Given the description of an element on the screen output the (x, y) to click on. 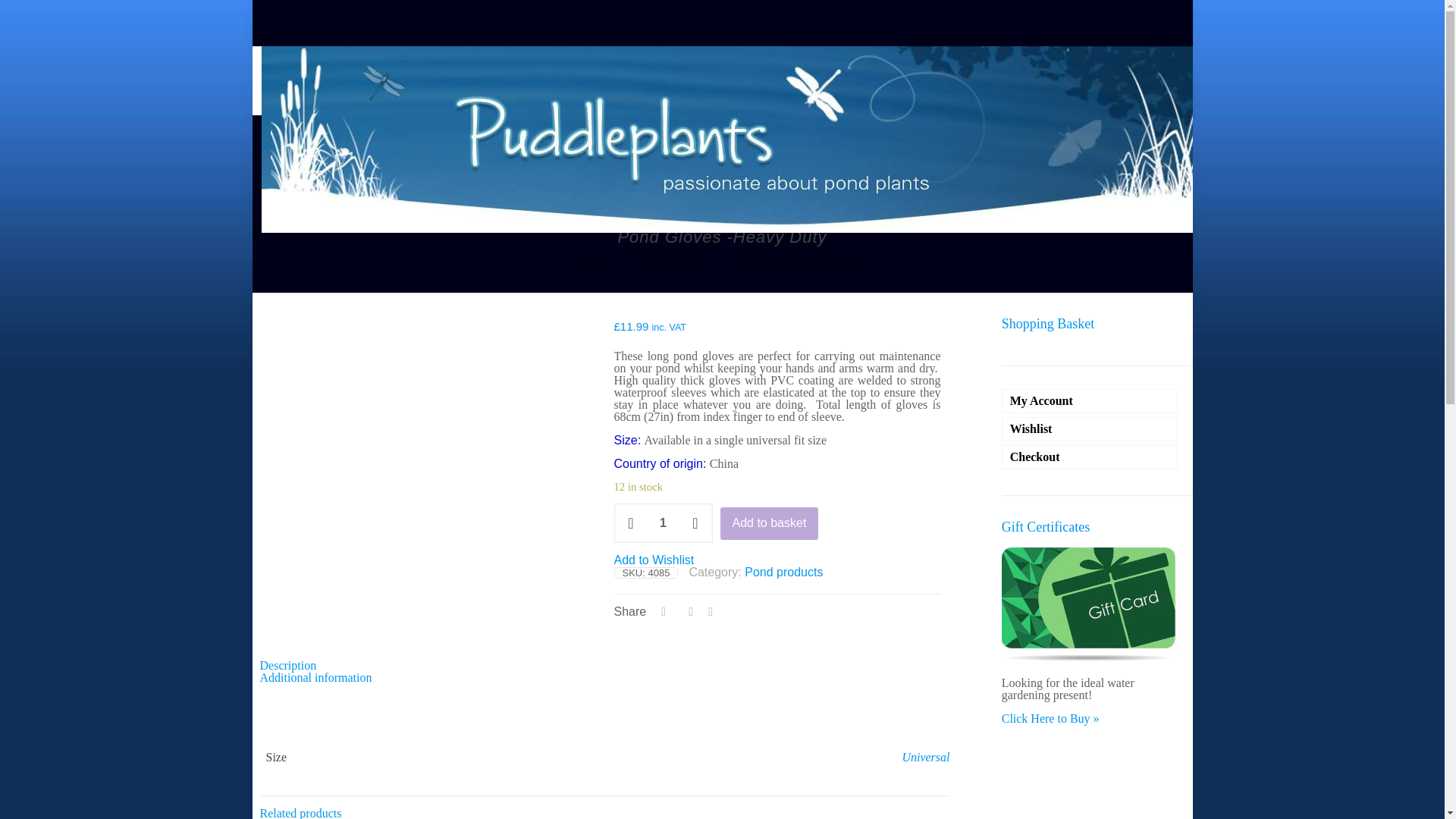
Wishlist (1089, 428)
Home (595, 263)
Add to Wishlist (654, 559)
1 (663, 522)
Add to basket (769, 523)
Description (287, 665)
Checkout (1089, 457)
My Account (1089, 401)
Universal (925, 757)
Pond products (672, 263)
Additional information (315, 676)
Pond products (783, 571)
